Given the description of an element on the screen output the (x, y) to click on. 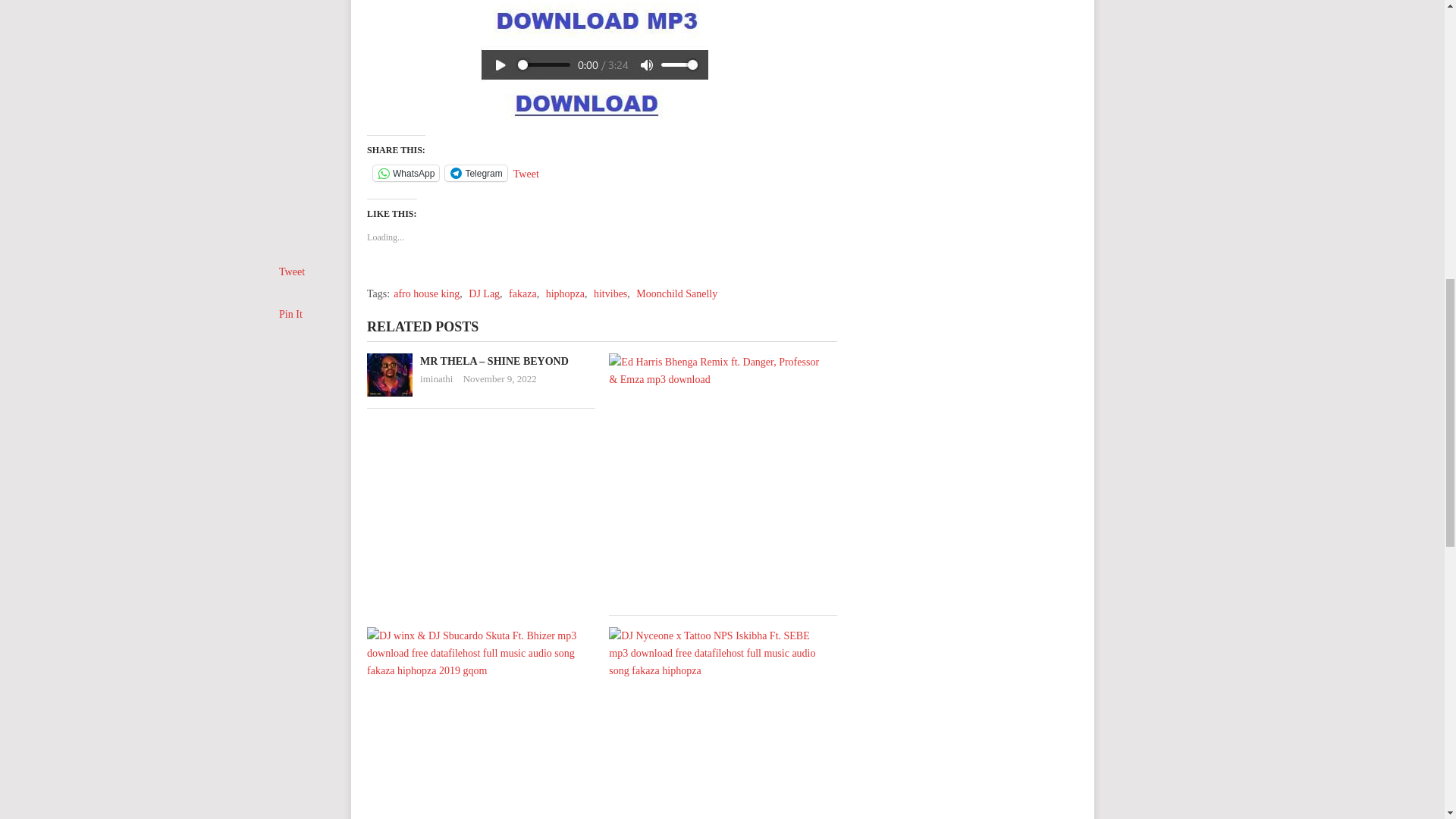
Telegram (475, 172)
Tweet (525, 172)
WhatsApp (405, 172)
